Given the description of an element on the screen output the (x, y) to click on. 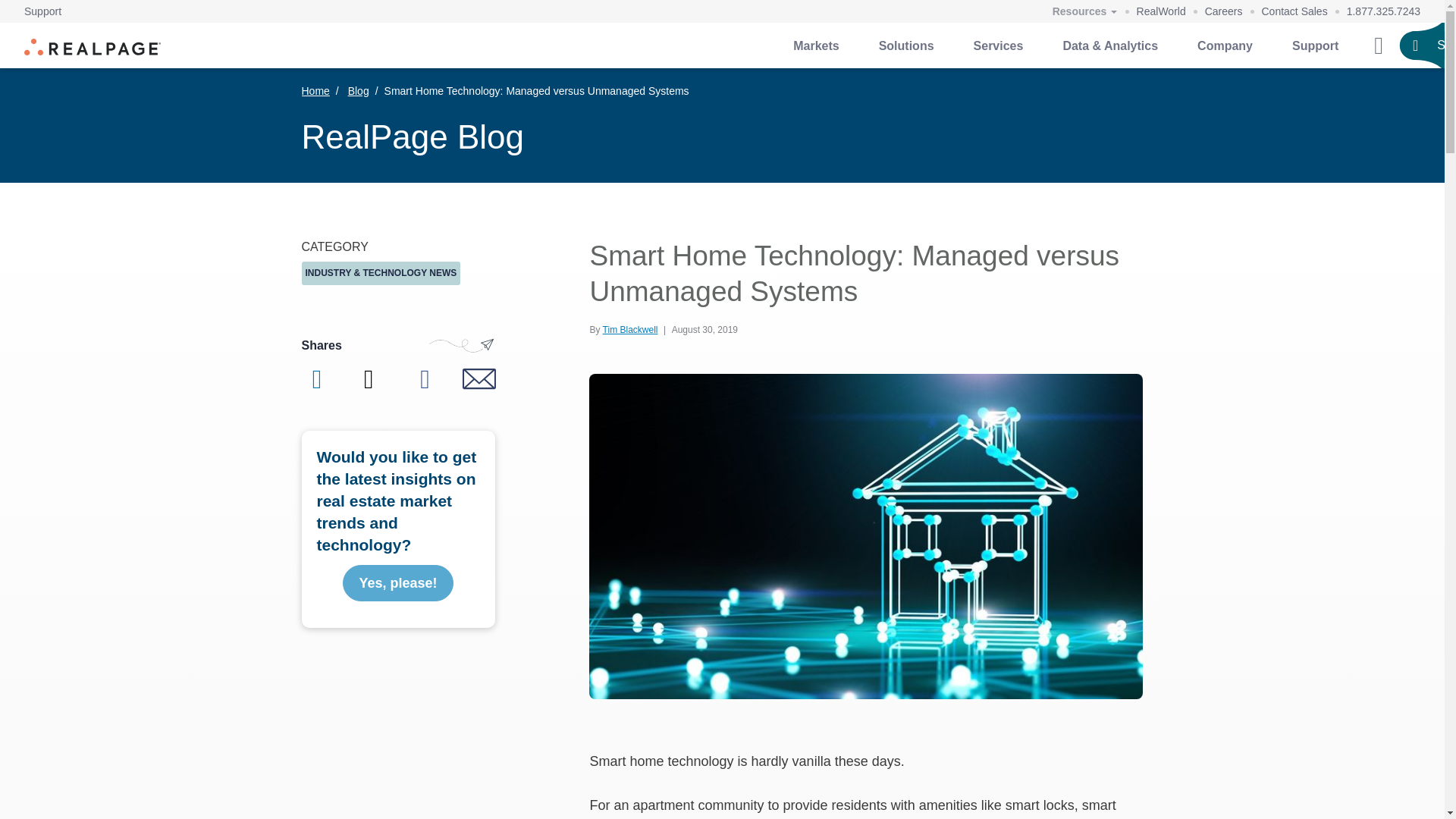
Contact Sales (1294, 11)
Support (42, 11)
Solutions (906, 44)
RealWorld (1161, 11)
Markets (816, 44)
Resources (1084, 11)
Contact Sales (1294, 11)
Support (42, 11)
RealWorld (1161, 11)
Careers (1224, 11)
Send to a friend (479, 378)
Careers (1224, 11)
1.877.325.7243 (1383, 11)
